Given the description of an element on the screen output the (x, y) to click on. 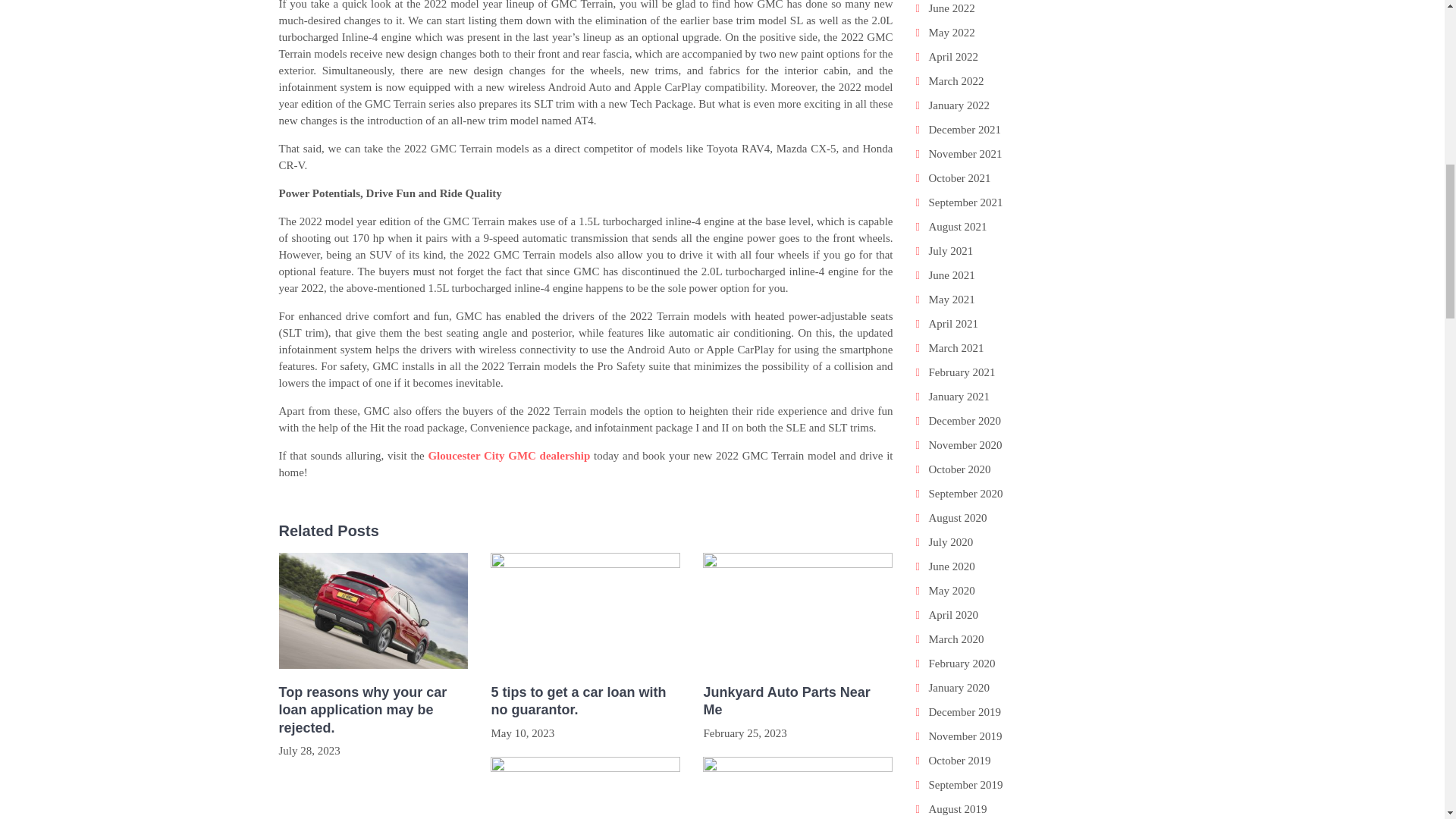
Junkyard Auto Parts Near Me (797, 701)
5 tips to get a car loan with no guarantor. (584, 701)
Top reasons why your car loan application may be rejected. (373, 710)
Gloucester City GMC dealership (508, 454)
